Given the description of an element on the screen output the (x, y) to click on. 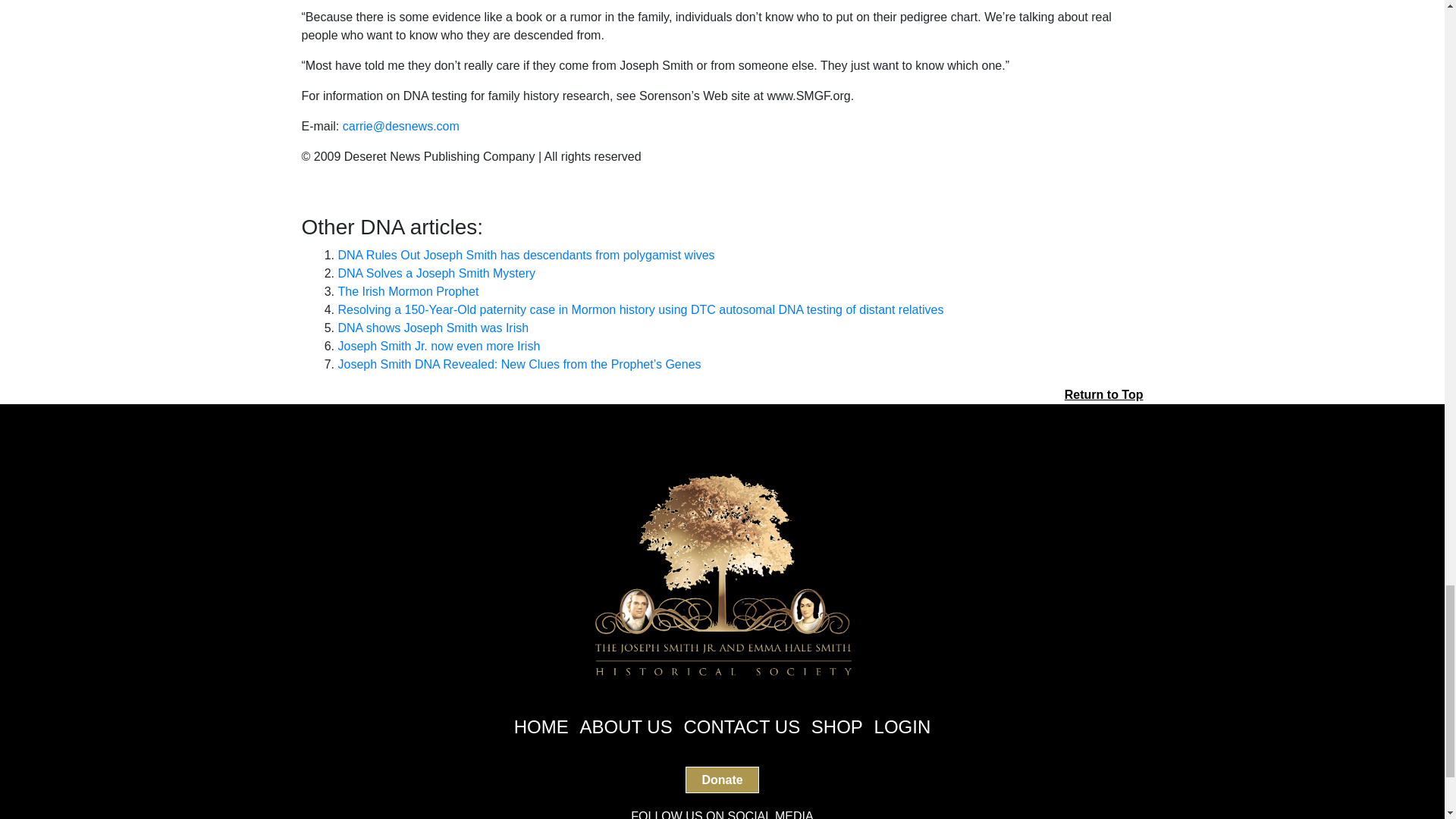
Return to Top (1103, 394)
